Given the description of an element on the screen output the (x, y) to click on. 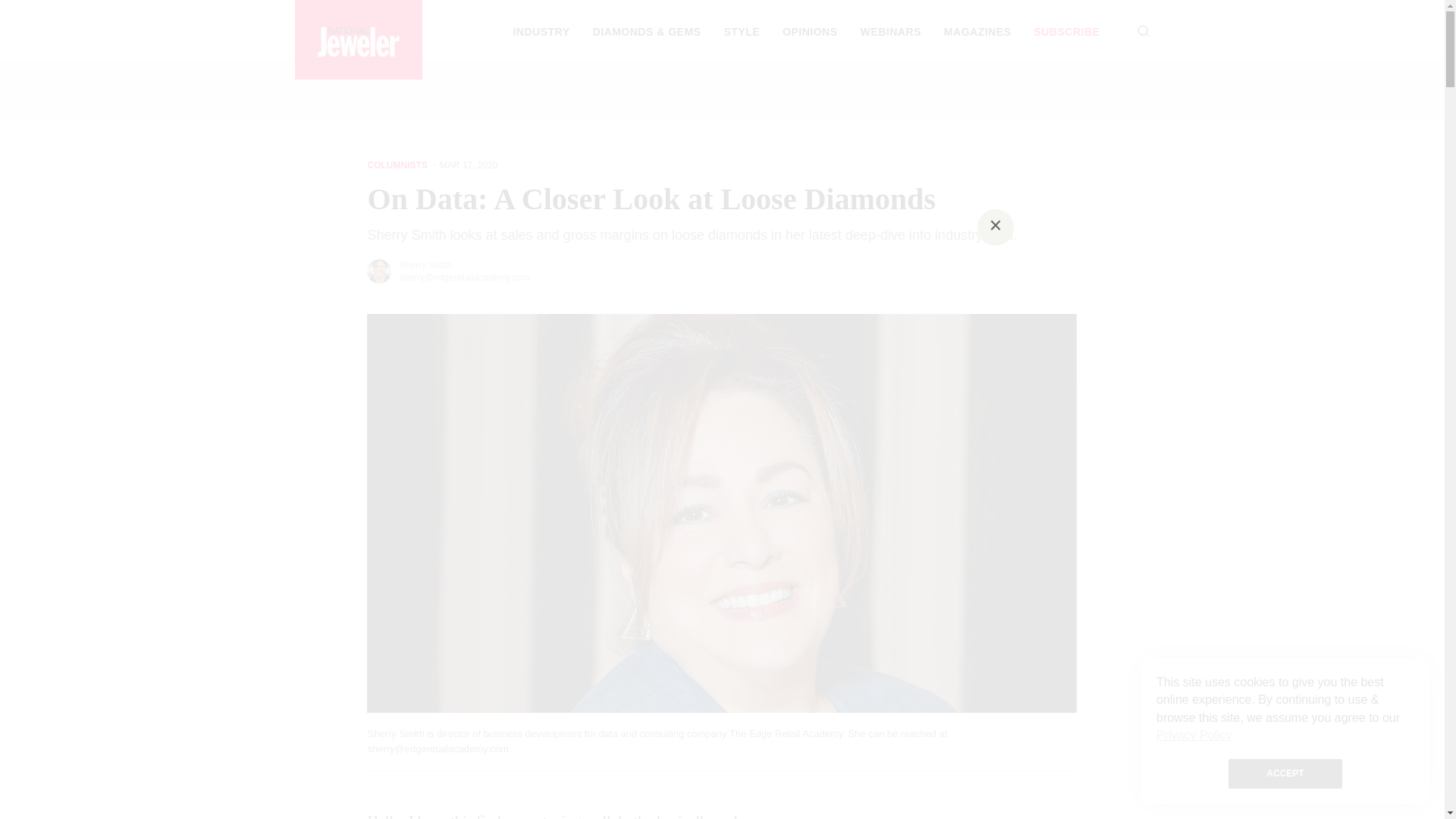
STYLE (741, 31)
OPINIONS (810, 31)
WEBINARS (890, 31)
INDUSTRY (540, 31)
MAGAZINES (977, 31)
SUBSCRIBE (1066, 31)
